Given the description of an element on the screen output the (x, y) to click on. 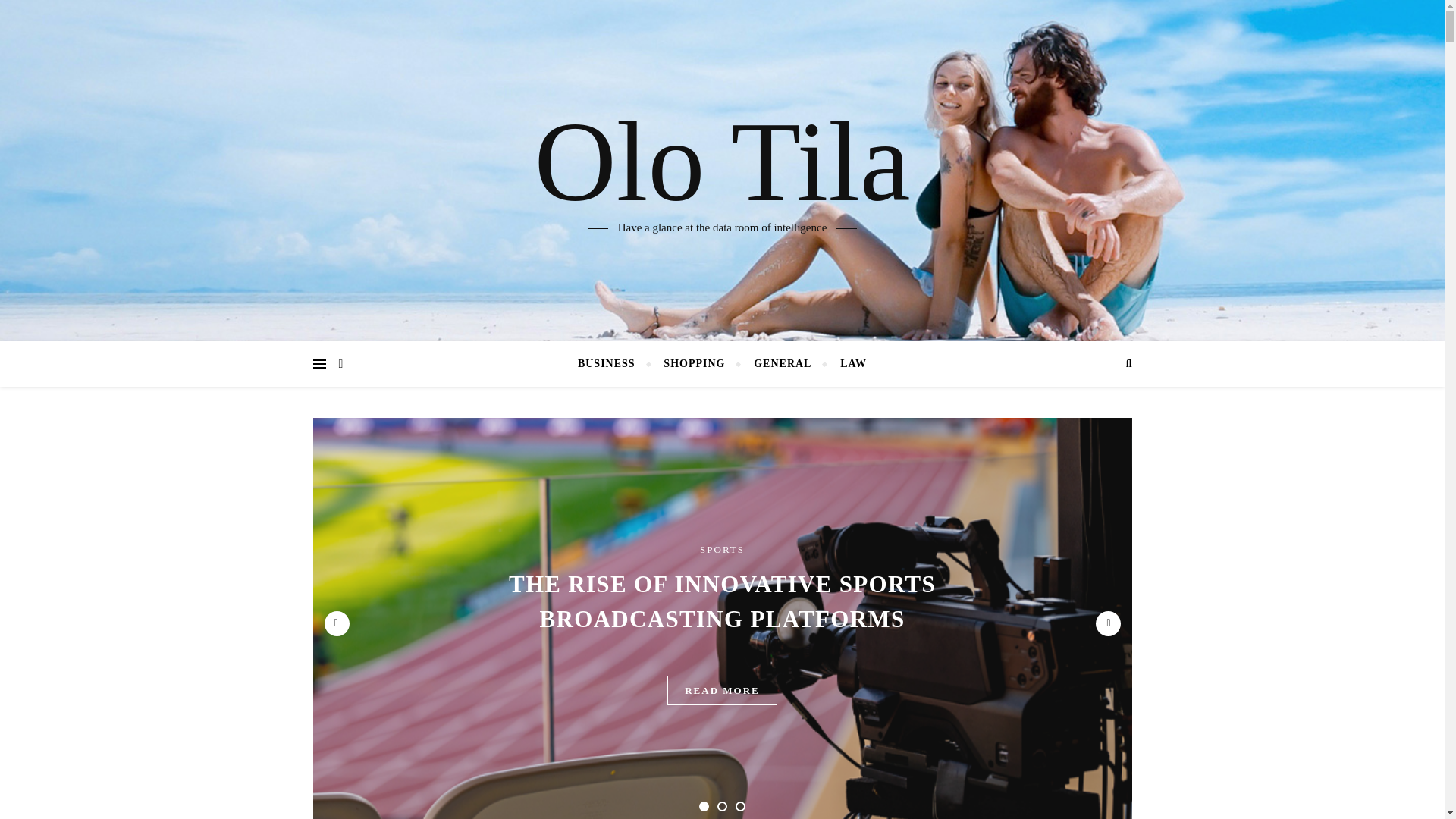
THE RISE OF INNOVATIVE SPORTS BROADCASTING PLATFORMS (722, 601)
READ MORE (721, 690)
SHOPPING (694, 363)
SPORTS (722, 549)
BUSINESS (612, 363)
GENERAL (782, 363)
